Given the description of an element on the screen output the (x, y) to click on. 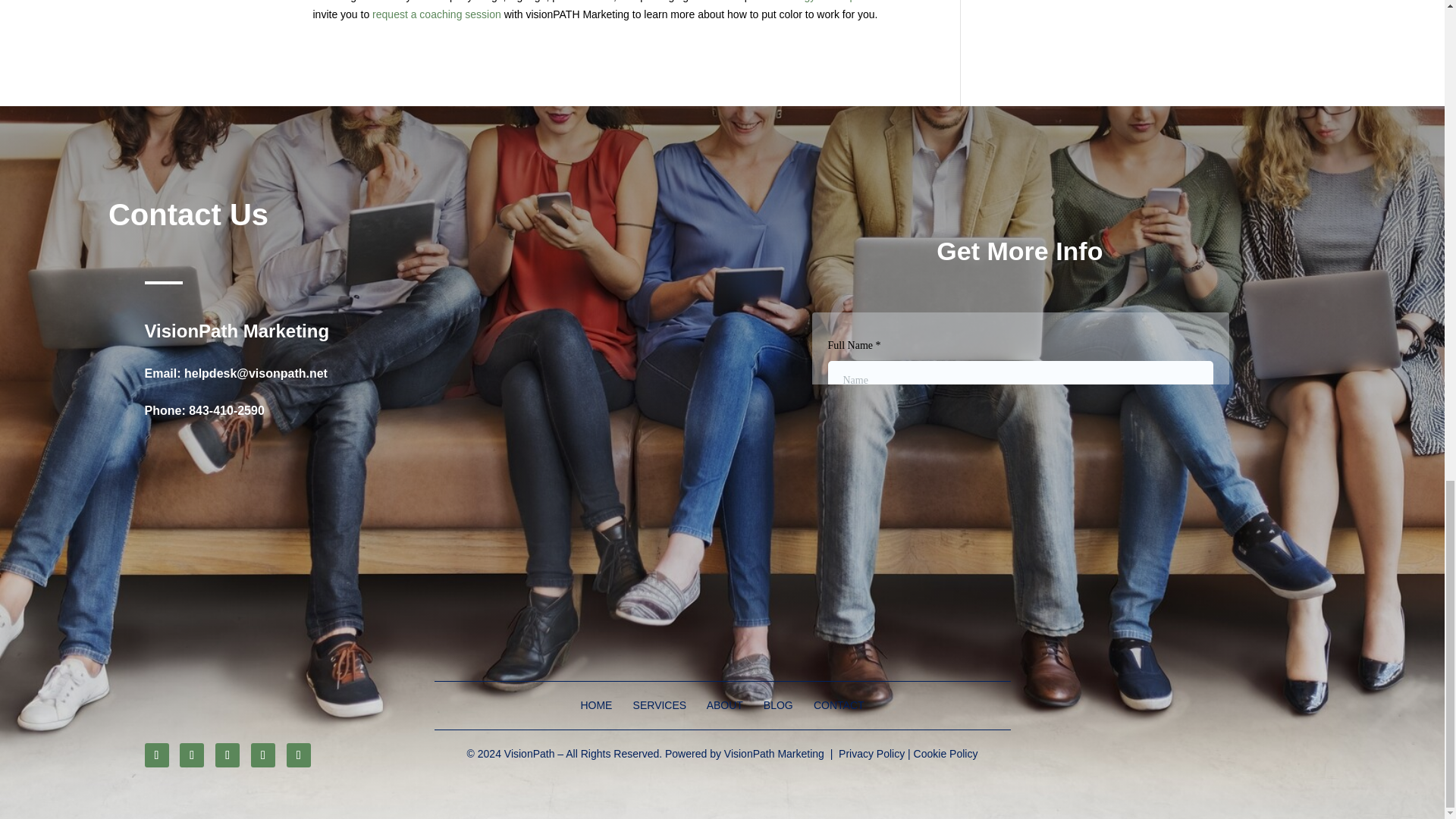
Follow on Facebook (156, 754)
request a coaching session (436, 14)
Follow on LinkedIn (298, 754)
Follow on X (191, 754)
Follow on Instagram (227, 754)
Follow on Youtube (262, 754)
strategy development (828, 1)
